Given the description of an element on the screen output the (x, y) to click on. 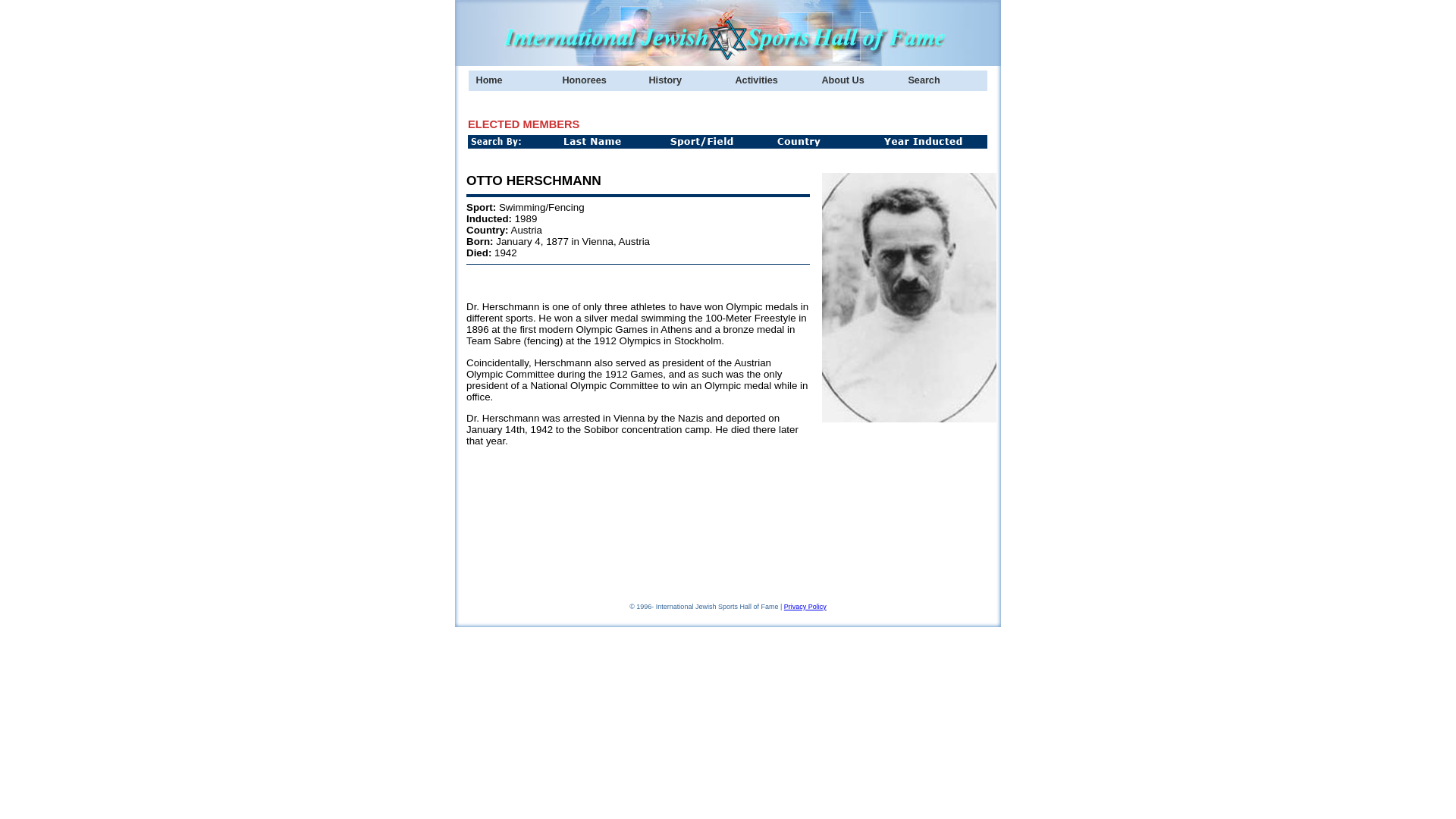
Privacy Policy (805, 606)
Honorees (598, 80)
History (685, 80)
Search (944, 80)
Home (511, 80)
About Us (857, 80)
Activities (770, 80)
